Given the description of an element on the screen output the (x, y) to click on. 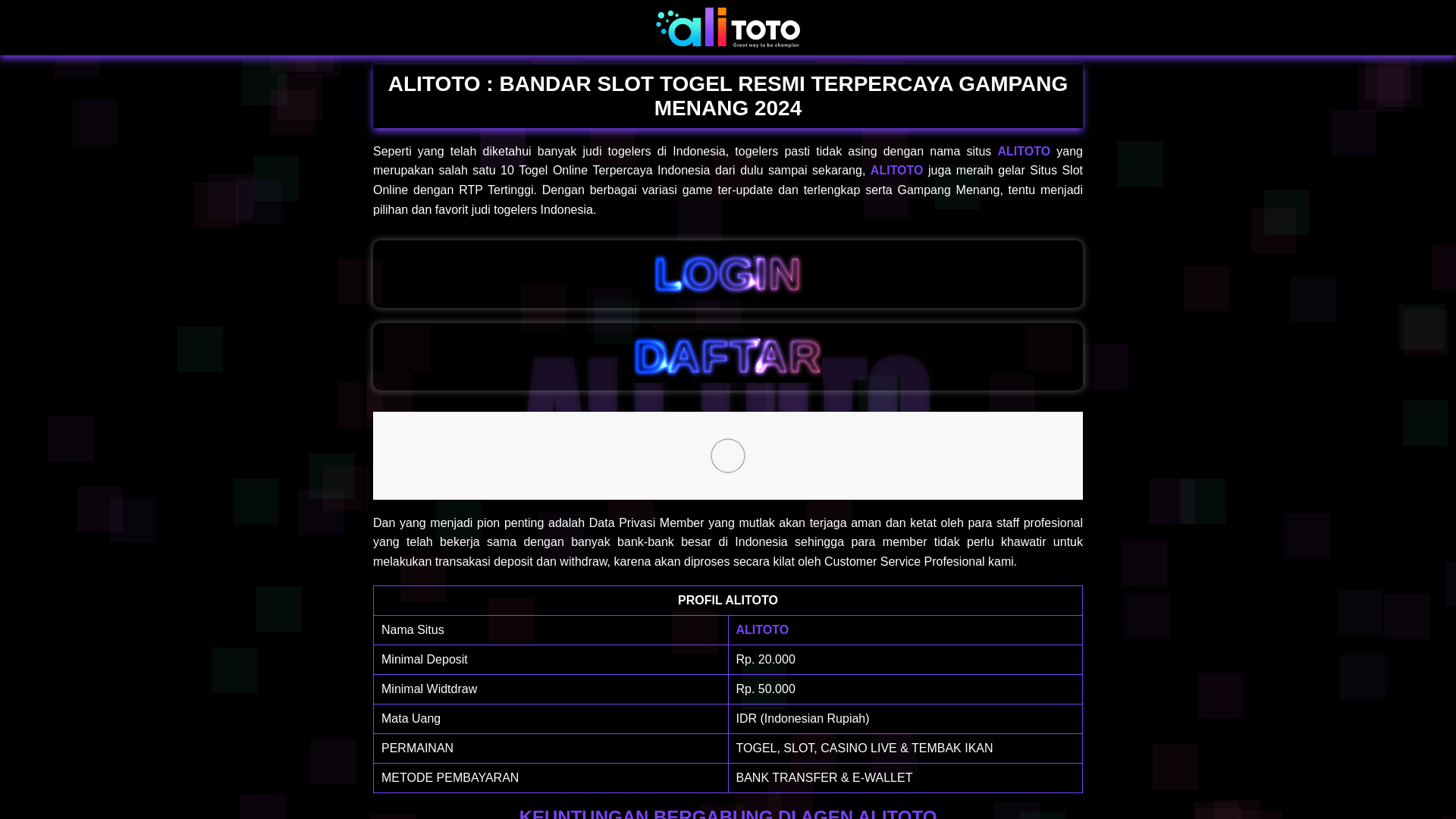
ALITOTO (762, 629)
DAFTAR (727, 356)
LOGIN (727, 273)
